Given the description of an element on the screen output the (x, y) to click on. 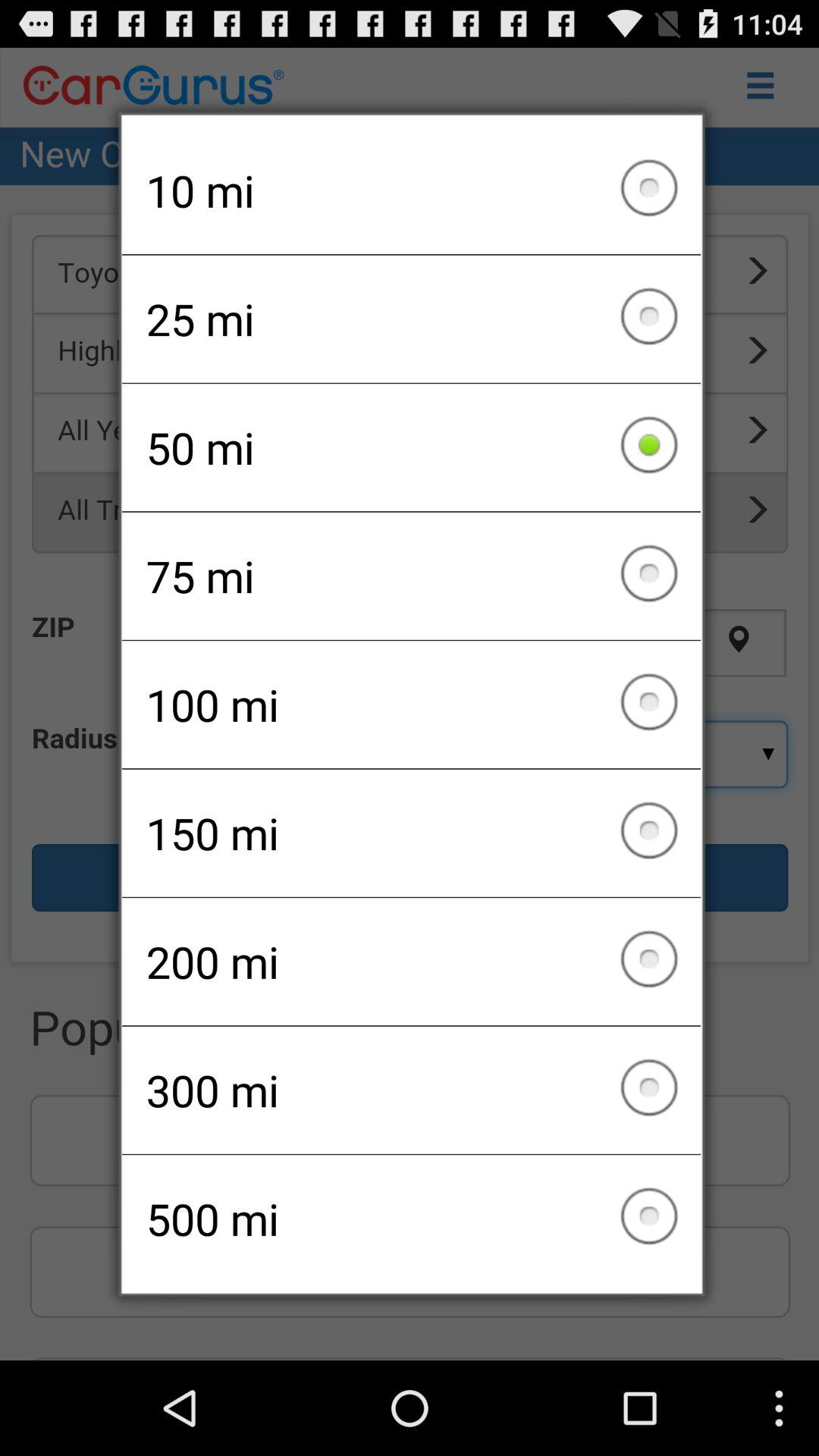
flip to the 50 mi icon (411, 447)
